Given the description of an element on the screen output the (x, y) to click on. 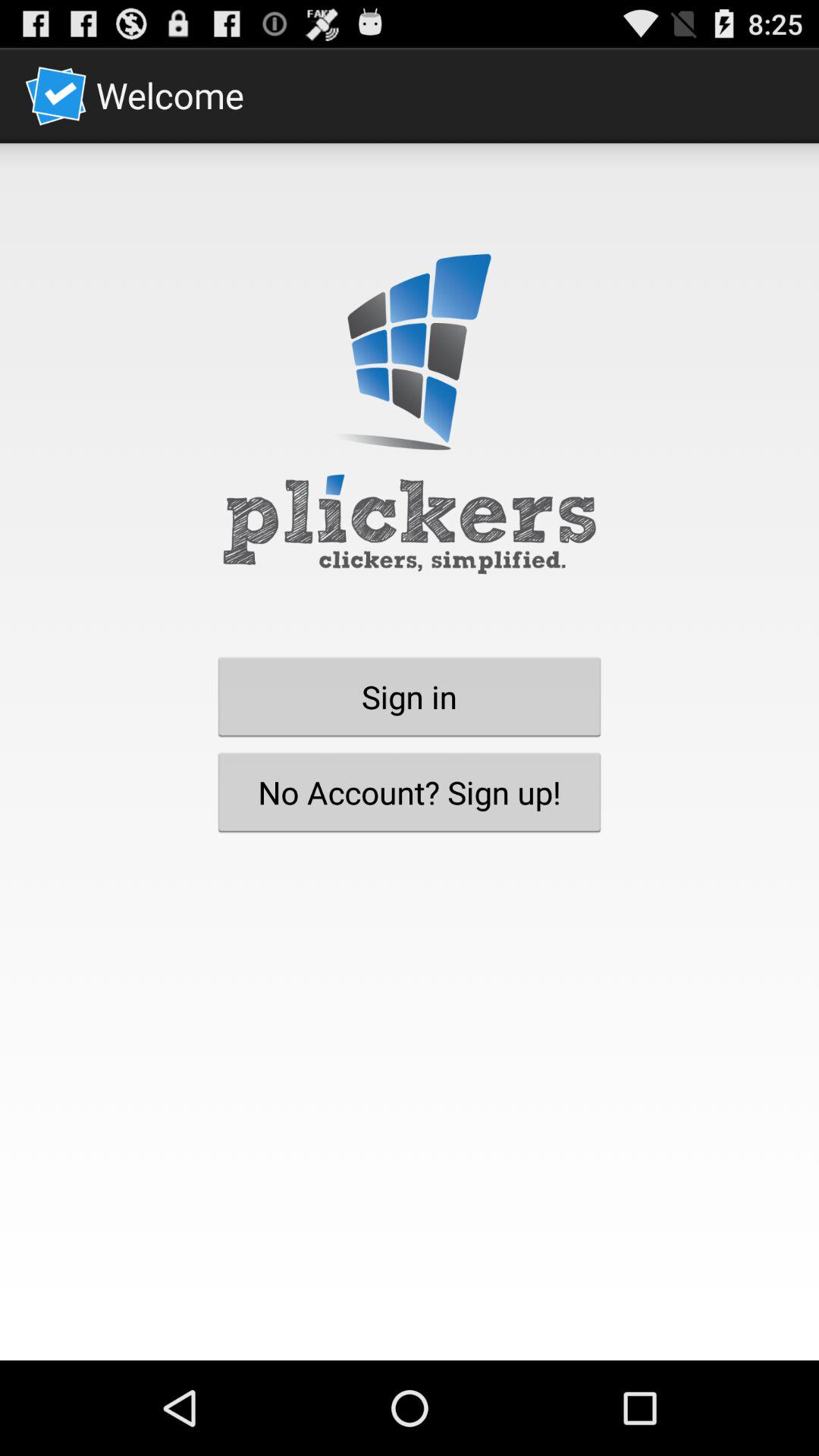
select the item above the no account sign (409, 696)
